Given the description of an element on the screen output the (x, y) to click on. 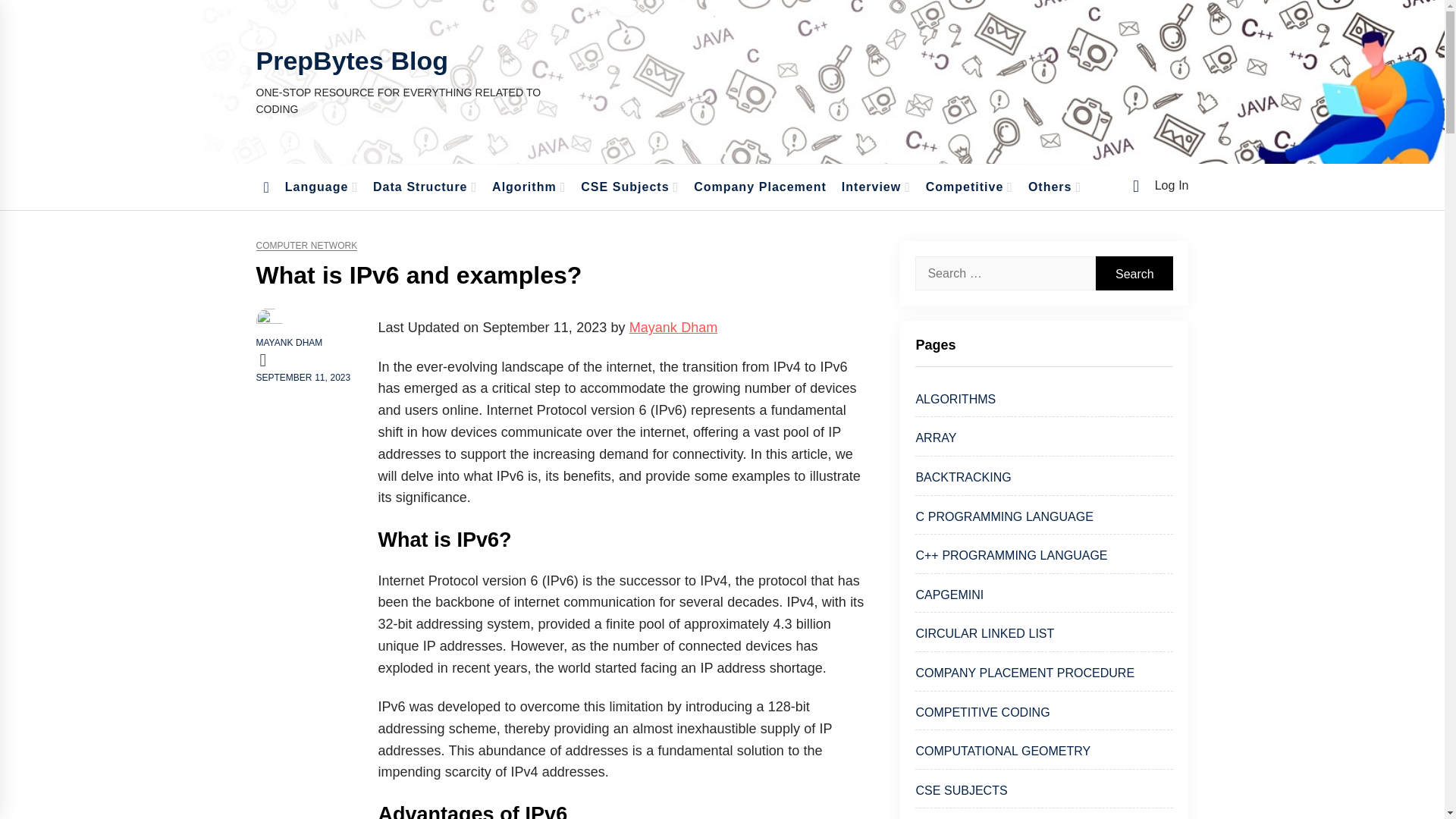
Interview (876, 186)
PrepBytes Blog (352, 60)
Company Placement (759, 186)
Algorithm (528, 186)
Competitive (969, 186)
Data Structure (424, 186)
Search (1134, 273)
Language (321, 186)
CSE Subjects (629, 186)
Search (1134, 273)
